Given the description of an element on the screen output the (x, y) to click on. 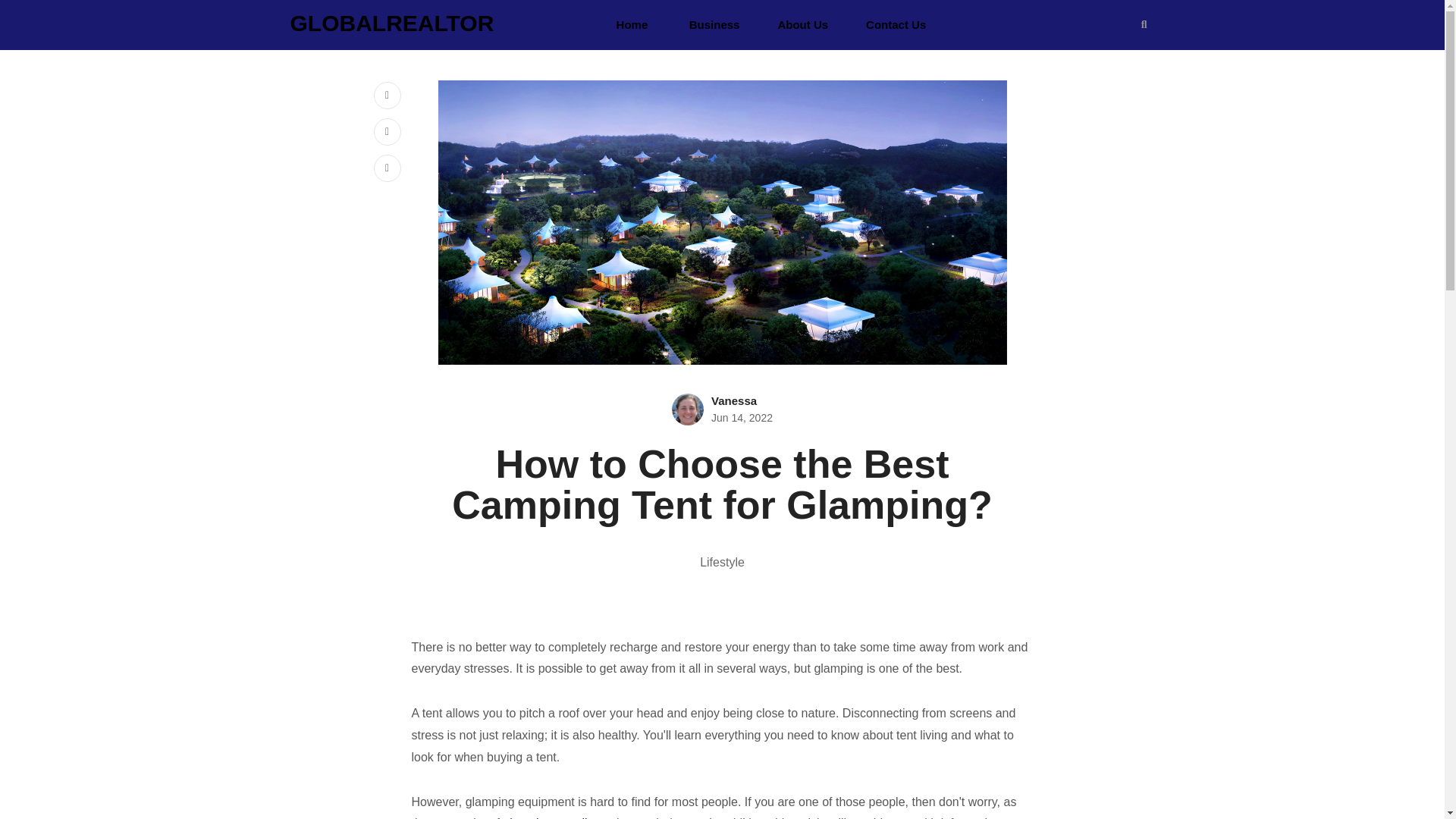
Business (713, 24)
glamping suppliers (553, 817)
Home (631, 24)
Vanessa (734, 400)
Home (631, 24)
GLOBALREALTOR (391, 23)
Lifestyle (722, 562)
About Us (802, 24)
Contact Us (895, 24)
